Given the description of an element on the screen output the (x, y) to click on. 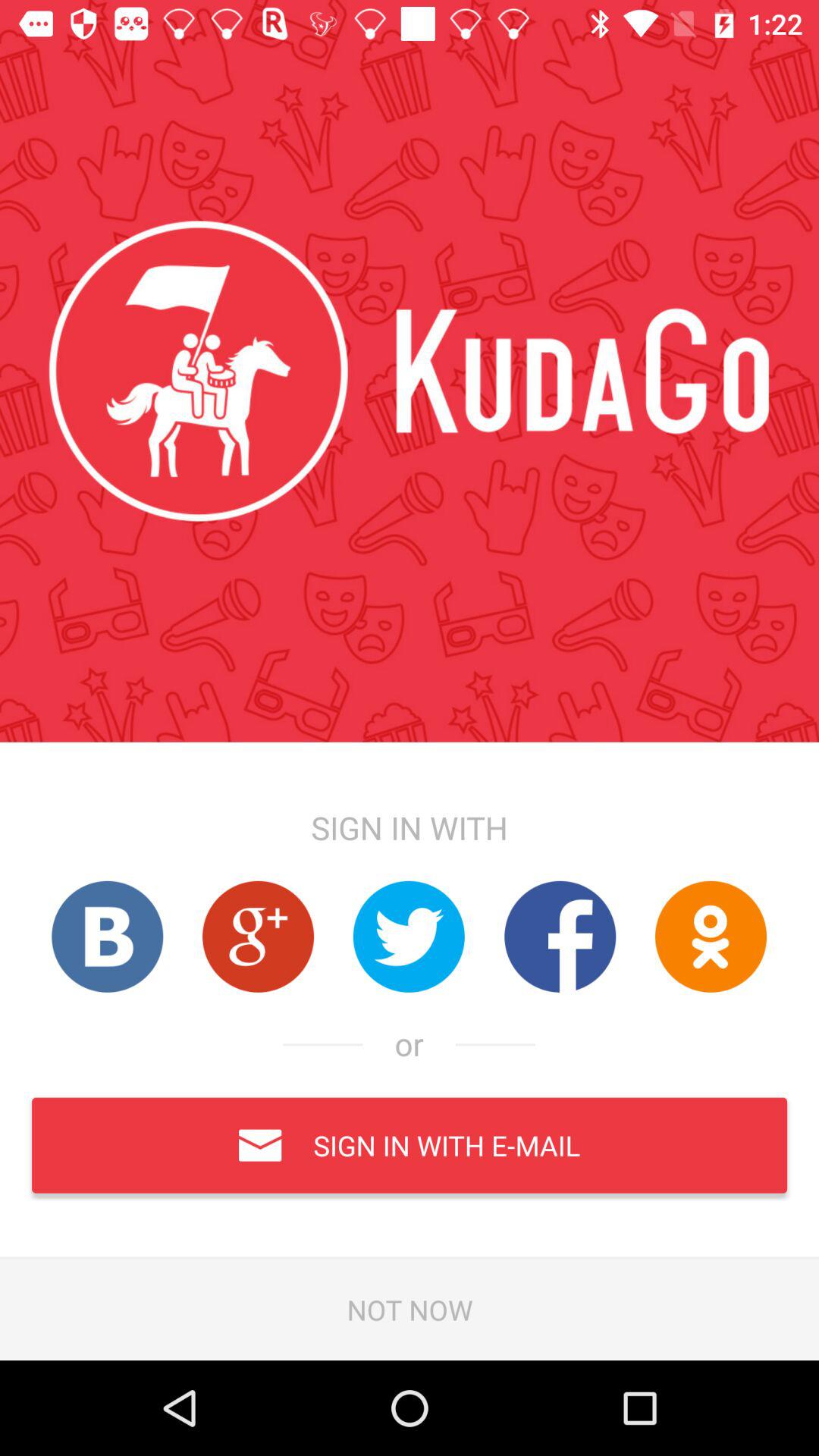
google plus (257, 936)
